Given the description of an element on the screen output the (x, y) to click on. 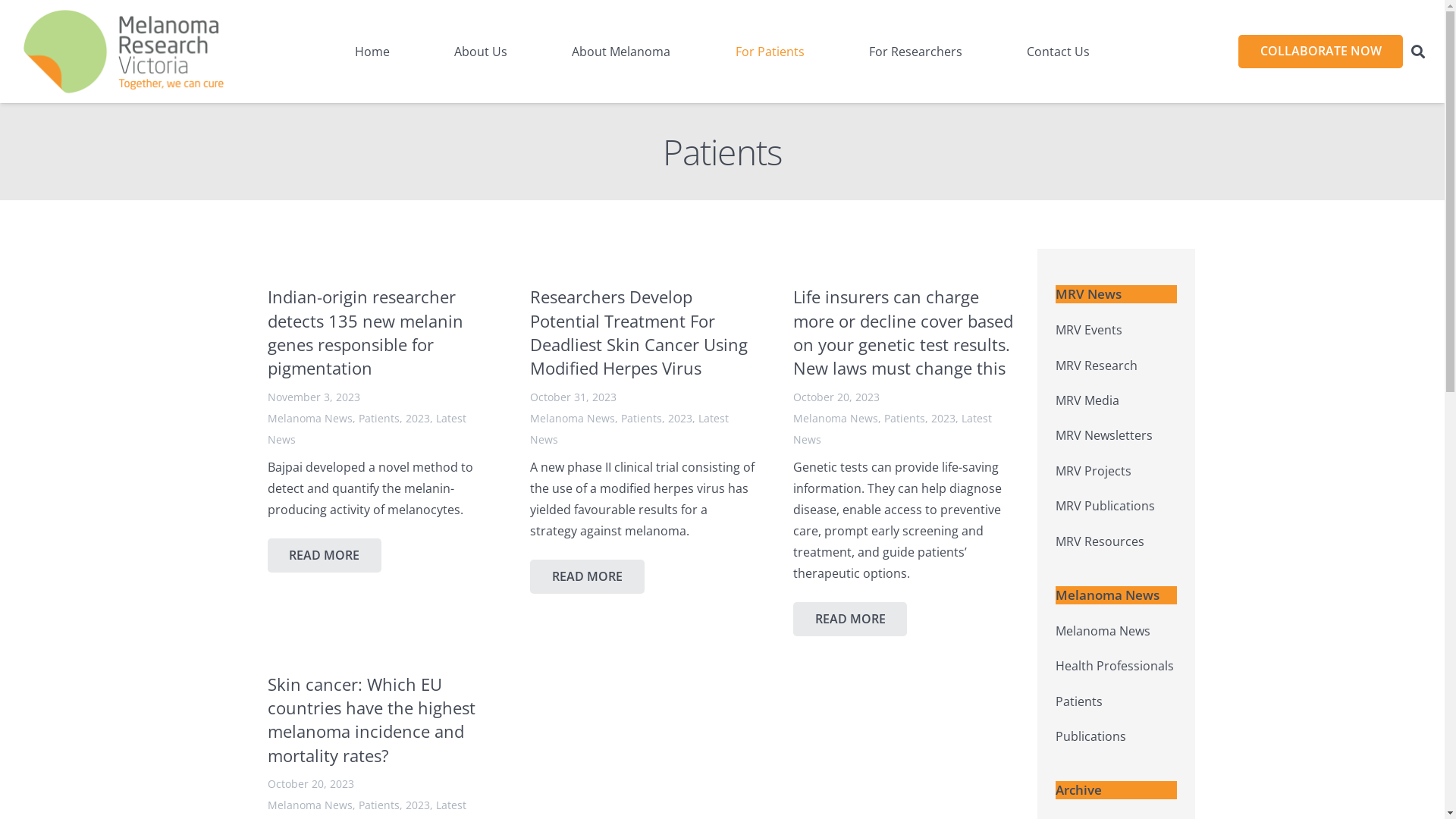
Contact Us Element type: text (1057, 51)
MRV Publications Element type: text (1104, 505)
MRV Media Element type: text (1087, 400)
MRV Research Element type: text (1096, 365)
Patients Element type: text (904, 418)
For Patients Element type: text (769, 51)
2023 Element type: text (680, 418)
Patients Element type: text (1078, 701)
Melanoma News Element type: text (1102, 630)
MRV Events Element type: text (1088, 329)
Home Element type: text (372, 51)
Melanoma News Element type: text (308, 804)
READ MORE Element type: text (587, 576)
Melanoma News Element type: text (835, 418)
Publications Element type: text (1090, 736)
About Melanoma Element type: text (620, 51)
2023 Element type: text (943, 418)
Melanoma News Element type: text (572, 418)
Patients Element type: text (377, 418)
2023 Element type: text (416, 418)
Patients Element type: text (641, 418)
About Us Element type: text (480, 51)
Latest News Element type: text (892, 428)
Latest News Element type: text (629, 428)
READ MORE Element type: text (323, 555)
2023 Element type: text (416, 804)
READ MORE Element type: text (850, 619)
MRV Projects Element type: text (1093, 470)
MRV Resources Element type: text (1099, 541)
Patients Element type: text (377, 804)
Health Professionals Element type: text (1114, 665)
MRV Newsletters Element type: text (1103, 434)
Latest News Element type: text (365, 428)
COLLABORATE NOW Element type: text (1320, 51)
Melanoma News Element type: text (308, 418)
For Researchers Element type: text (915, 51)
